Given the description of an element on the screen output the (x, y) to click on. 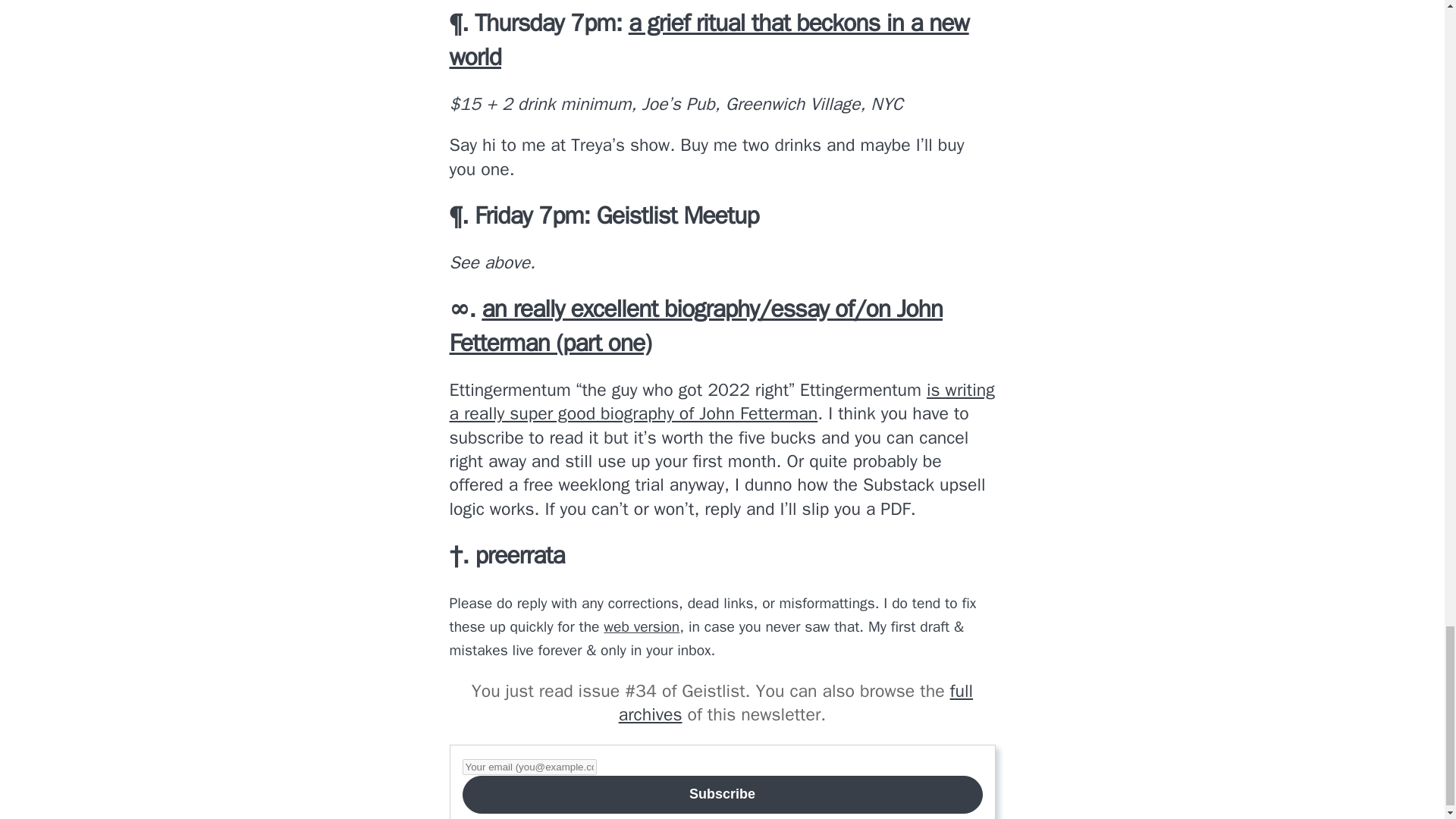
a grief ritual that beckons in a new world (708, 39)
is writing a really super good biography of John Fetterman (721, 402)
full archives (795, 702)
web version (641, 626)
Subscribe (722, 794)
